Given the description of an element on the screen output the (x, y) to click on. 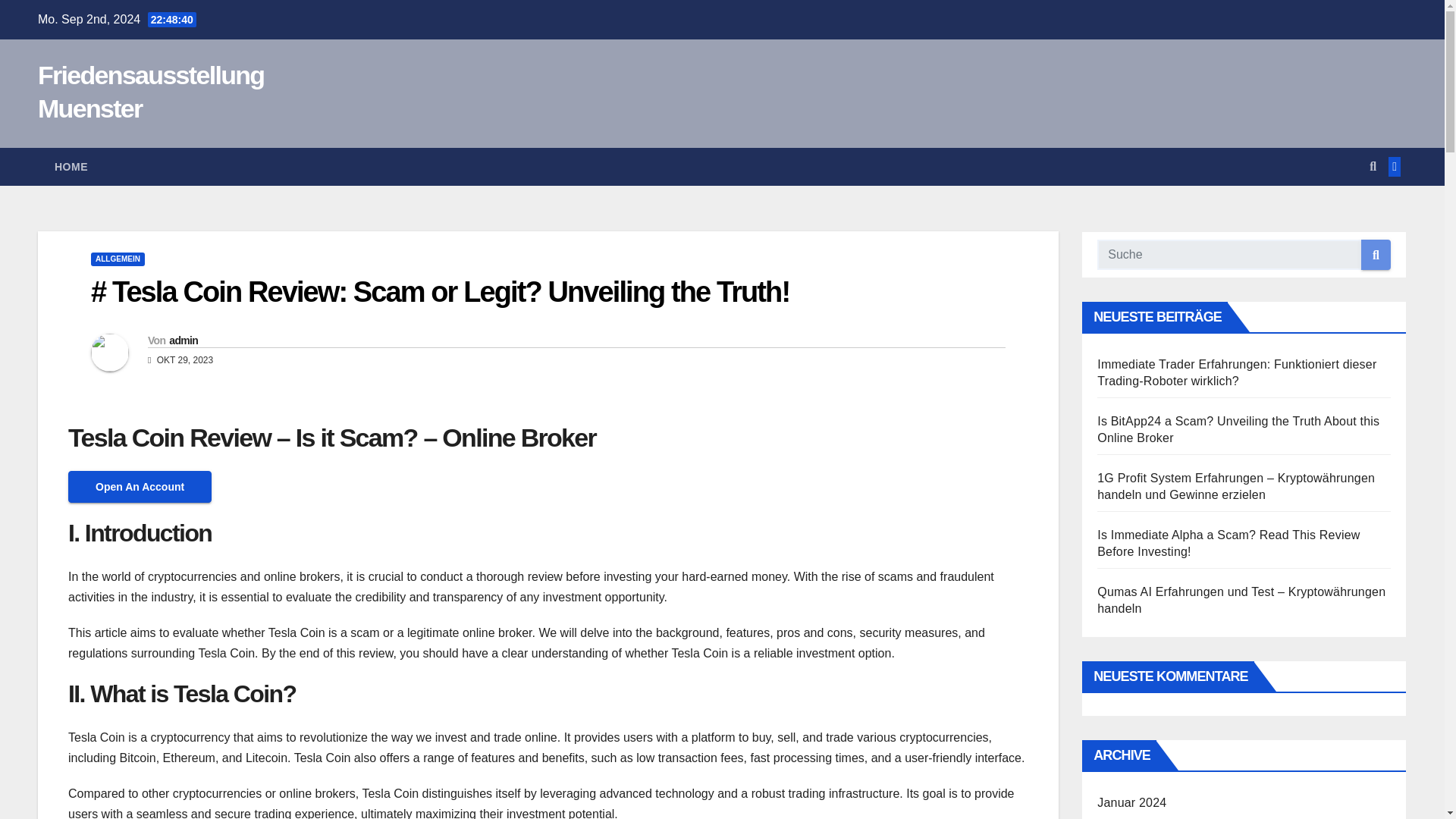
Open An Account (139, 486)
admin (183, 340)
Home (70, 166)
ALLGEMEIN (117, 259)
Friedensausstellung Muenster (150, 91)
Open An Account (139, 486)
HOME (70, 166)
